Given the description of an element on the screen output the (x, y) to click on. 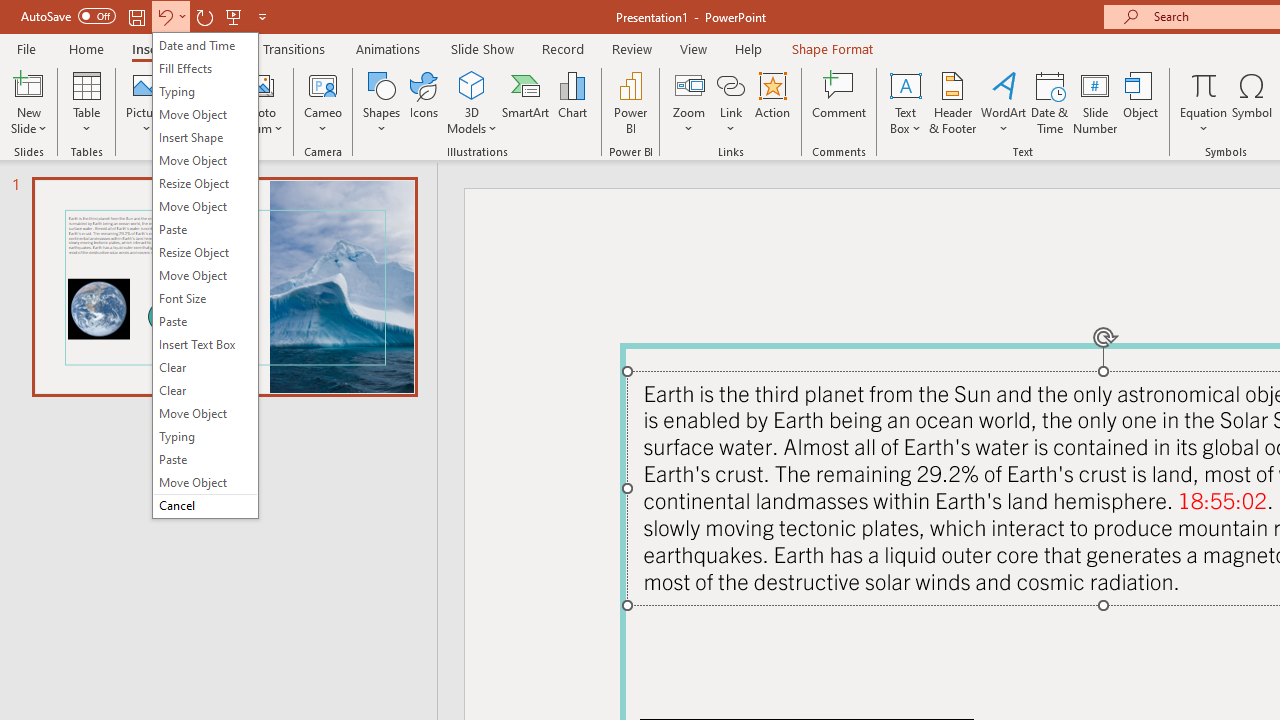
Customize Quick Access Toolbar (262, 15)
New Slide (28, 84)
Draw Horizontal Text Box (905, 84)
